Given the description of an element on the screen output the (x, y) to click on. 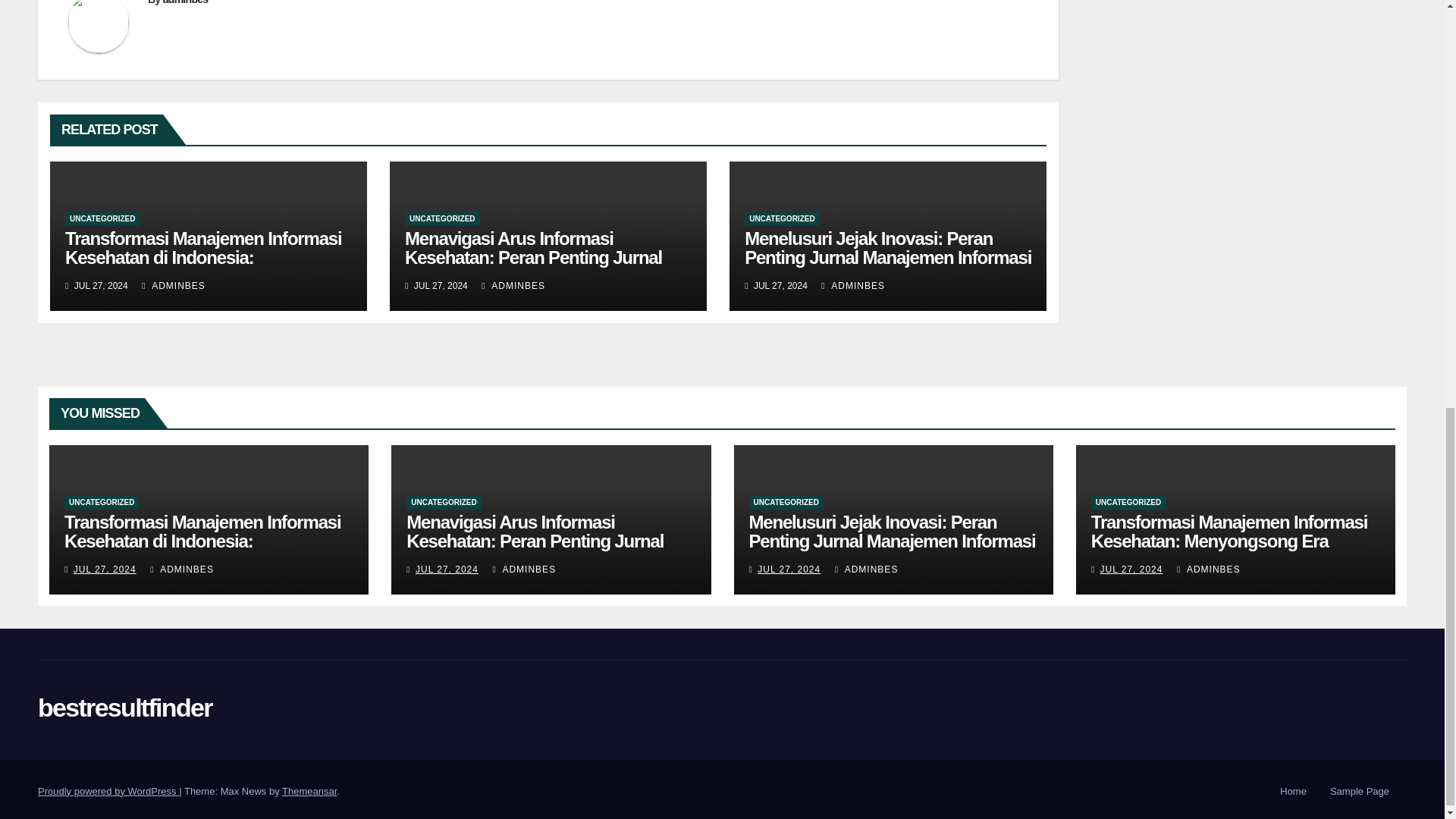
ADMINBES (173, 285)
ADMINBES (512, 285)
adminbes (185, 2)
UNCATEGORIZED (441, 219)
UNCATEGORIZED (102, 219)
Home (1293, 791)
ADMINBES (853, 285)
